Given the description of an element on the screen output the (x, y) to click on. 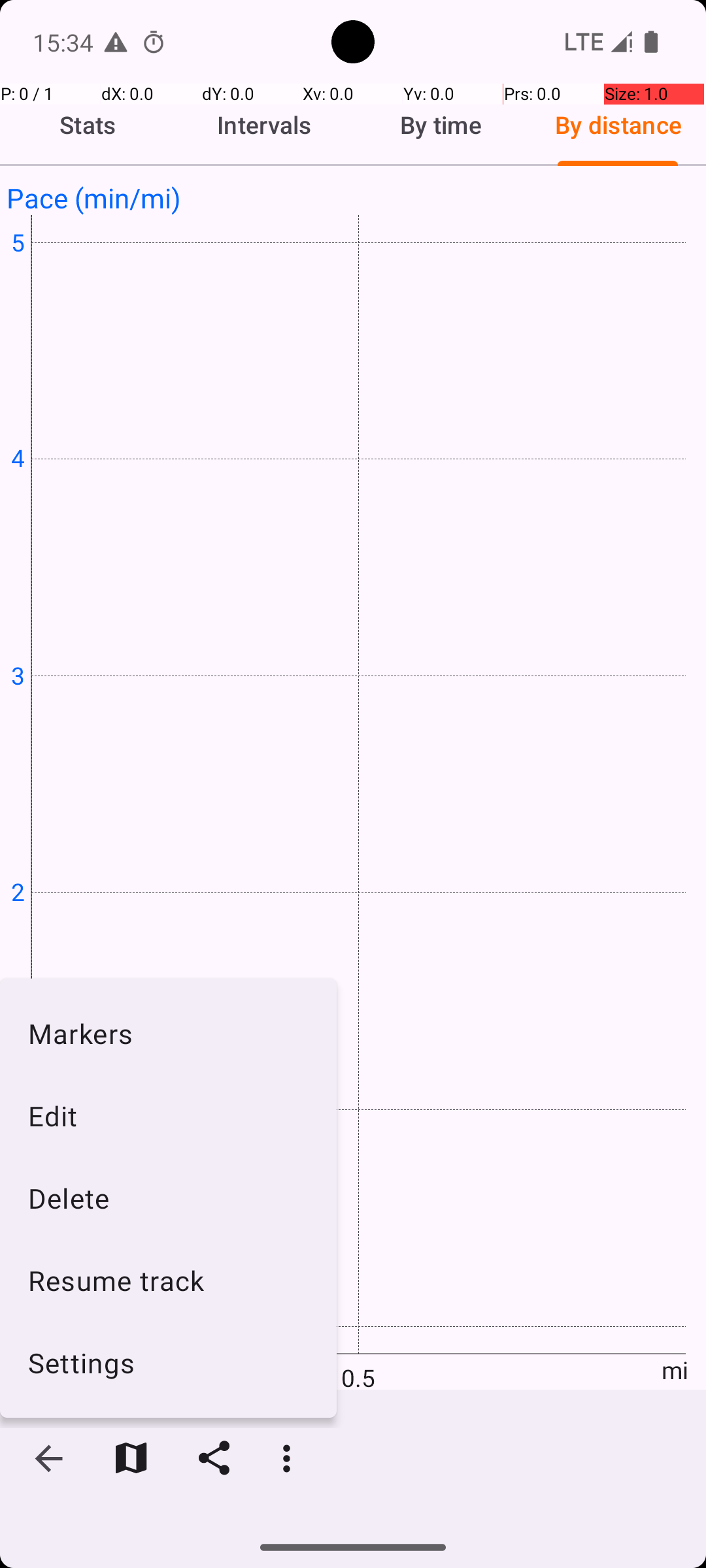
Resume track Element type: android.widget.TextView (168, 1279)
